Given the description of an element on the screen output the (x, y) to click on. 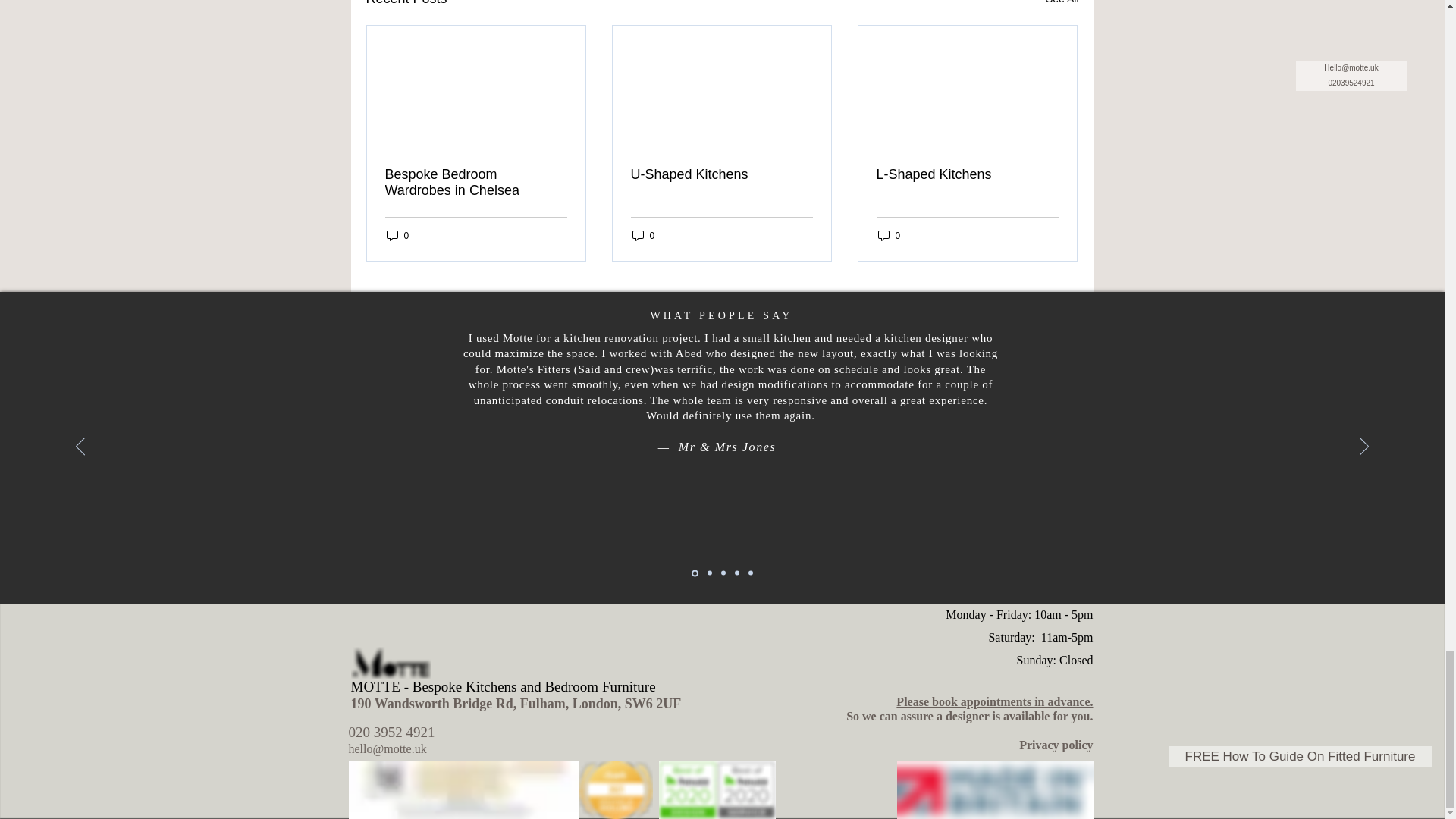
See All (1061, 4)
U-Shaped Kitchens (721, 174)
Bespoke Bedroom Wardrobes in Chelsea (476, 183)
0 (643, 235)
0 (889, 235)
L-Shaped Kitchens (967, 174)
0 (397, 235)
